Given the description of an element on the screen output the (x, y) to click on. 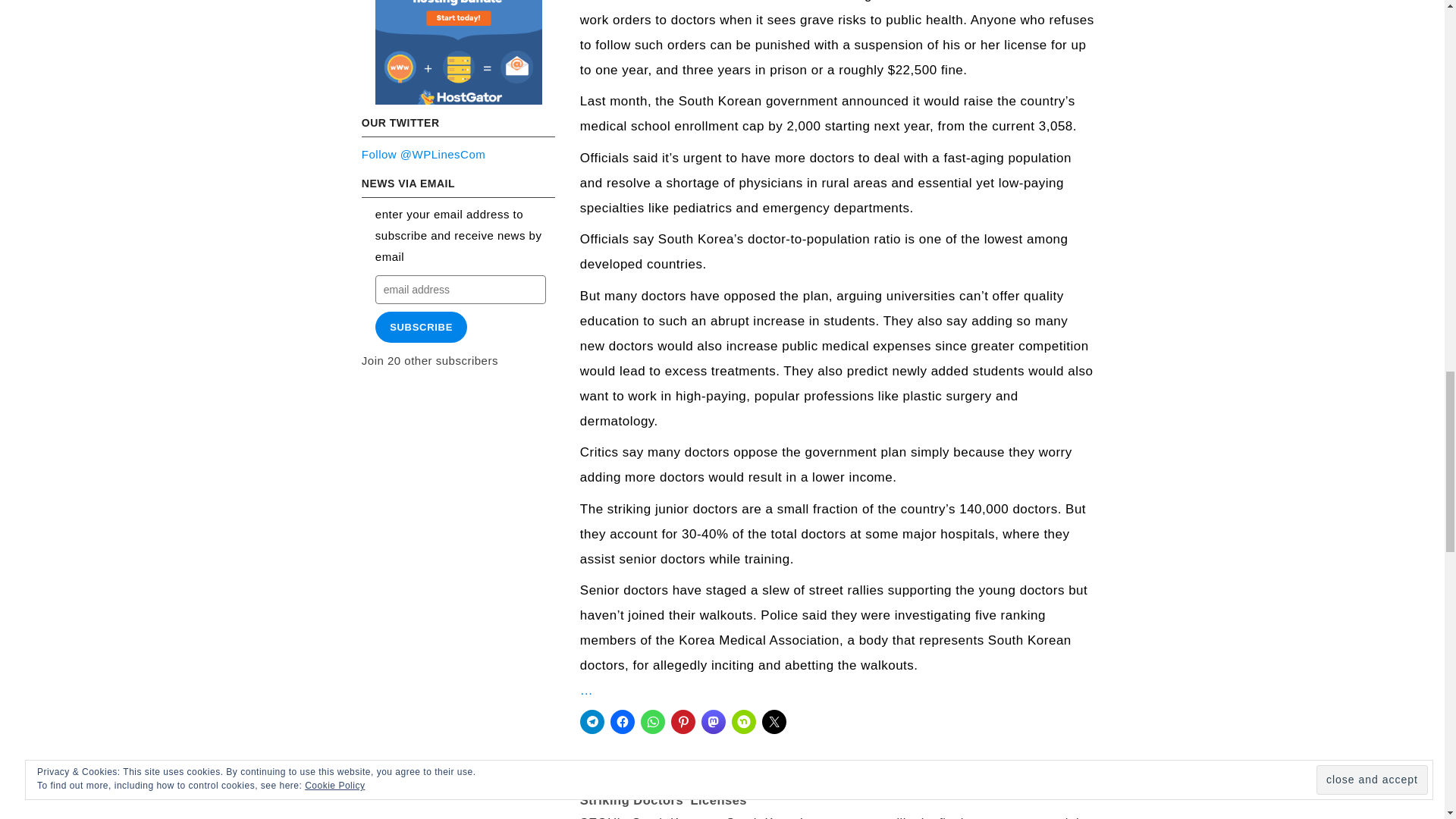
Click to share on Mastodon (713, 721)
Click to share on X (773, 721)
Click to share on Pinterest (683, 721)
Click to share on WhatsApp (652, 721)
Click to share on Telegram (591, 721)
Click to share on Facebook (622, 721)
Click to share on Nextdoor (743, 721)
